Given the description of an element on the screen output the (x, y) to click on. 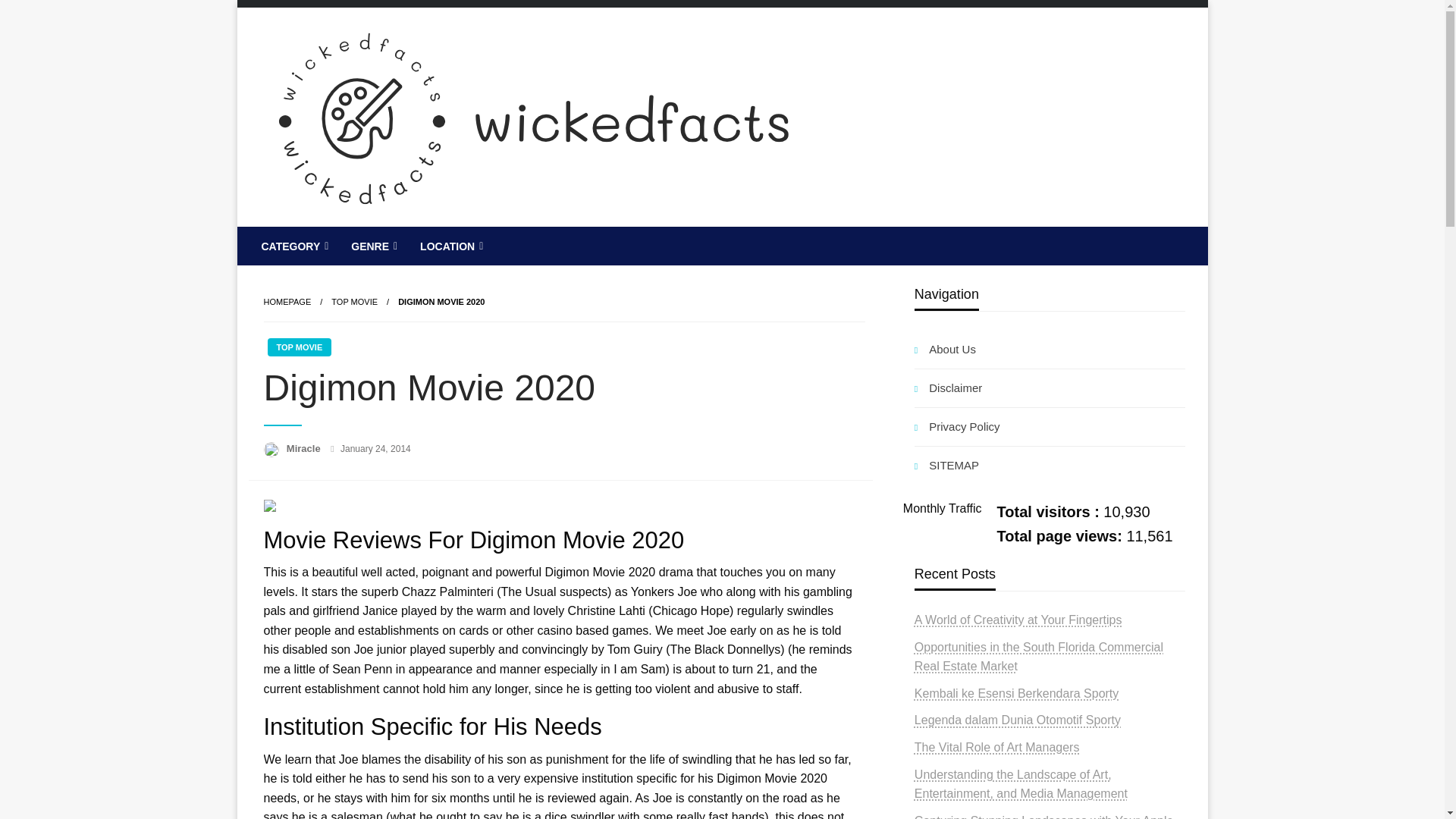
Miracle (304, 448)
Homepage (287, 301)
January 24, 2014 (375, 448)
Digimon Movie 2020 (440, 301)
CATEGORY (293, 246)
Wickedfacts (345, 238)
TOP MOVIE (354, 301)
Top Movie (354, 301)
TOP MOVIE (298, 347)
